Given the description of an element on the screen output the (x, y) to click on. 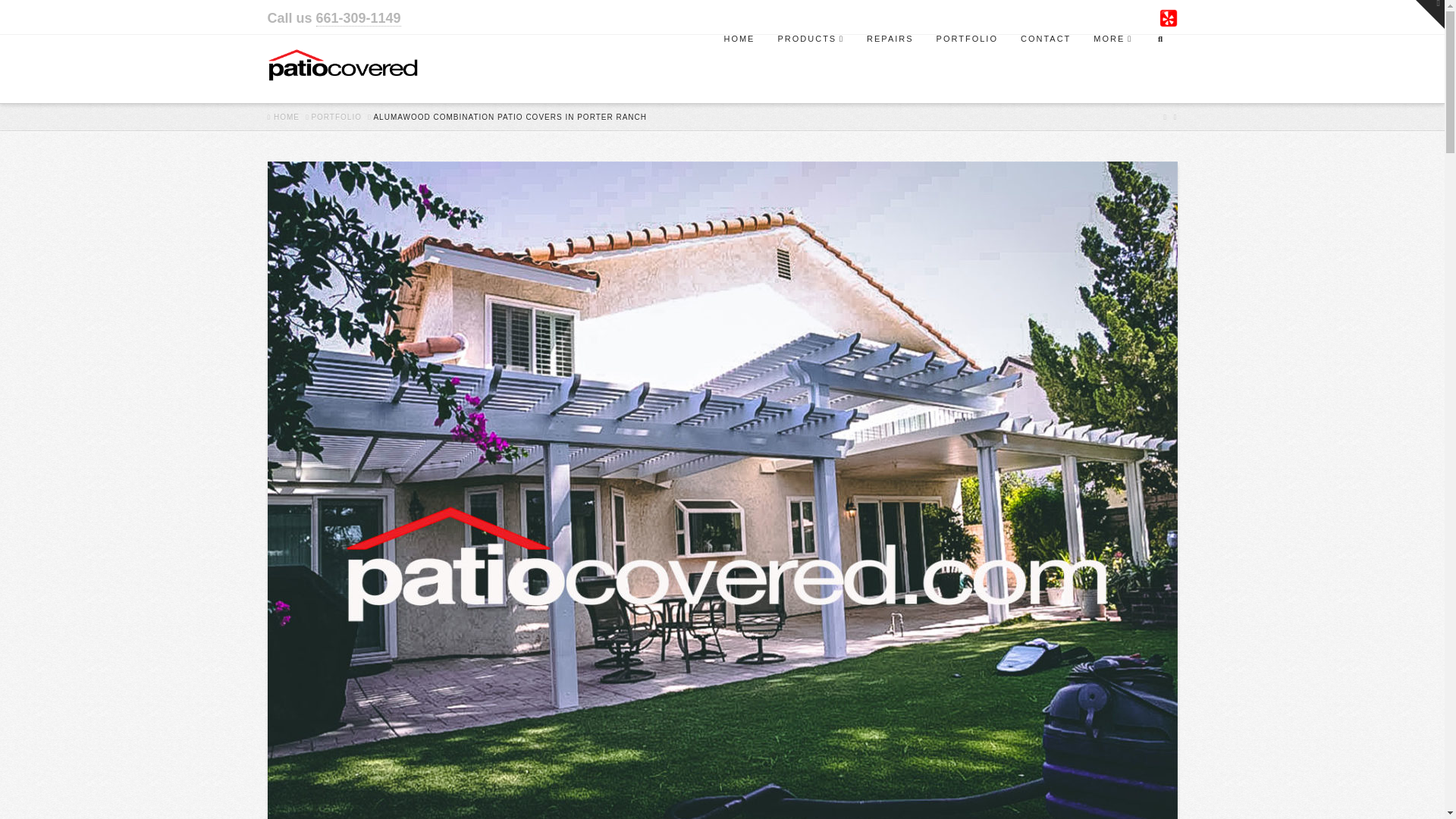
REPAIRS (889, 69)
CONTACT (1045, 69)
Yelp (1167, 17)
PORTFOLIO (966, 69)
PRODUCTS (809, 69)
MORE (1111, 69)
661-309-1149 (358, 18)
You Are Here (509, 117)
